Given the description of an element on the screen output the (x, y) to click on. 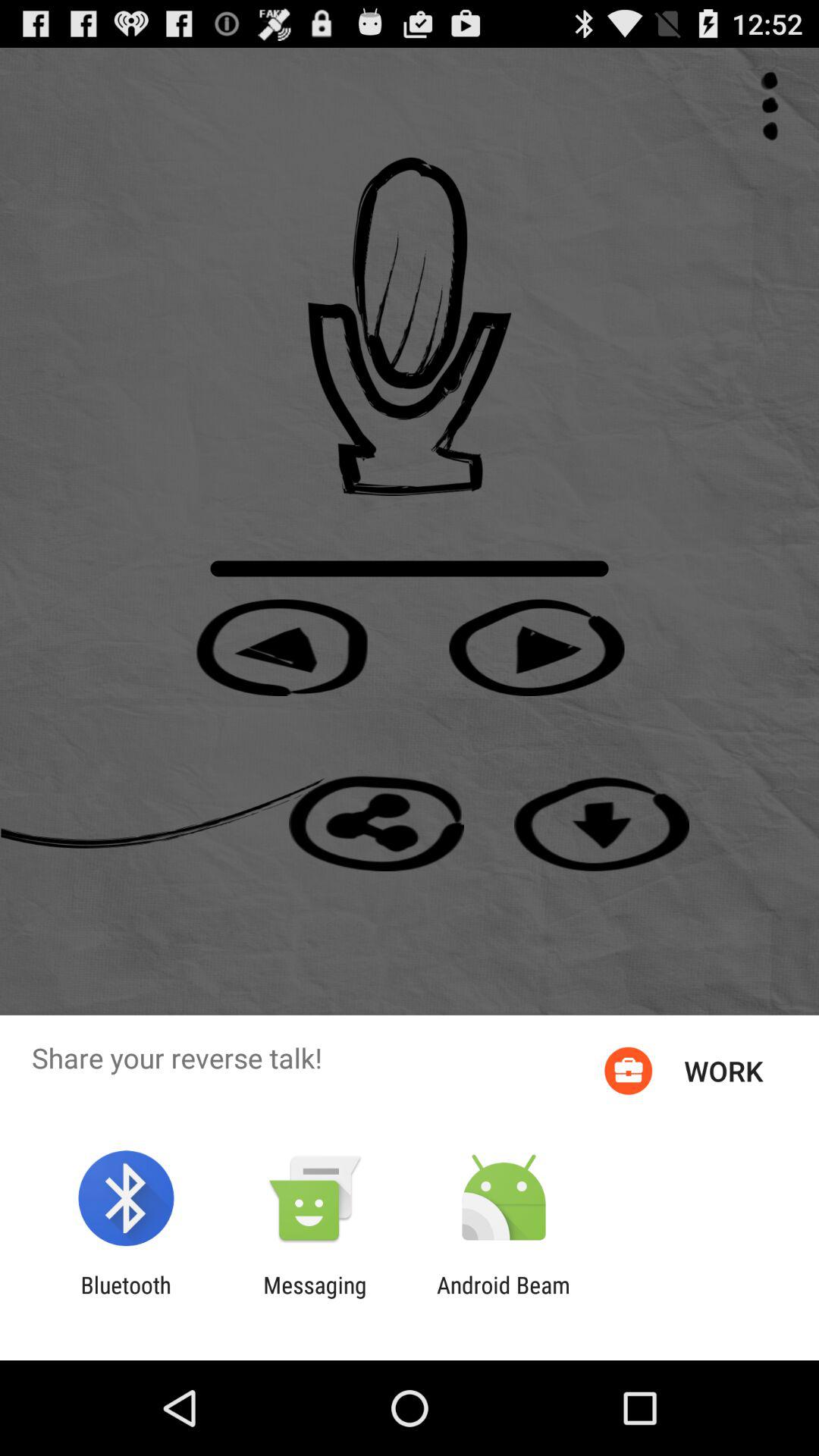
open icon to the right of messaging icon (503, 1298)
